Given the description of an element on the screen output the (x, y) to click on. 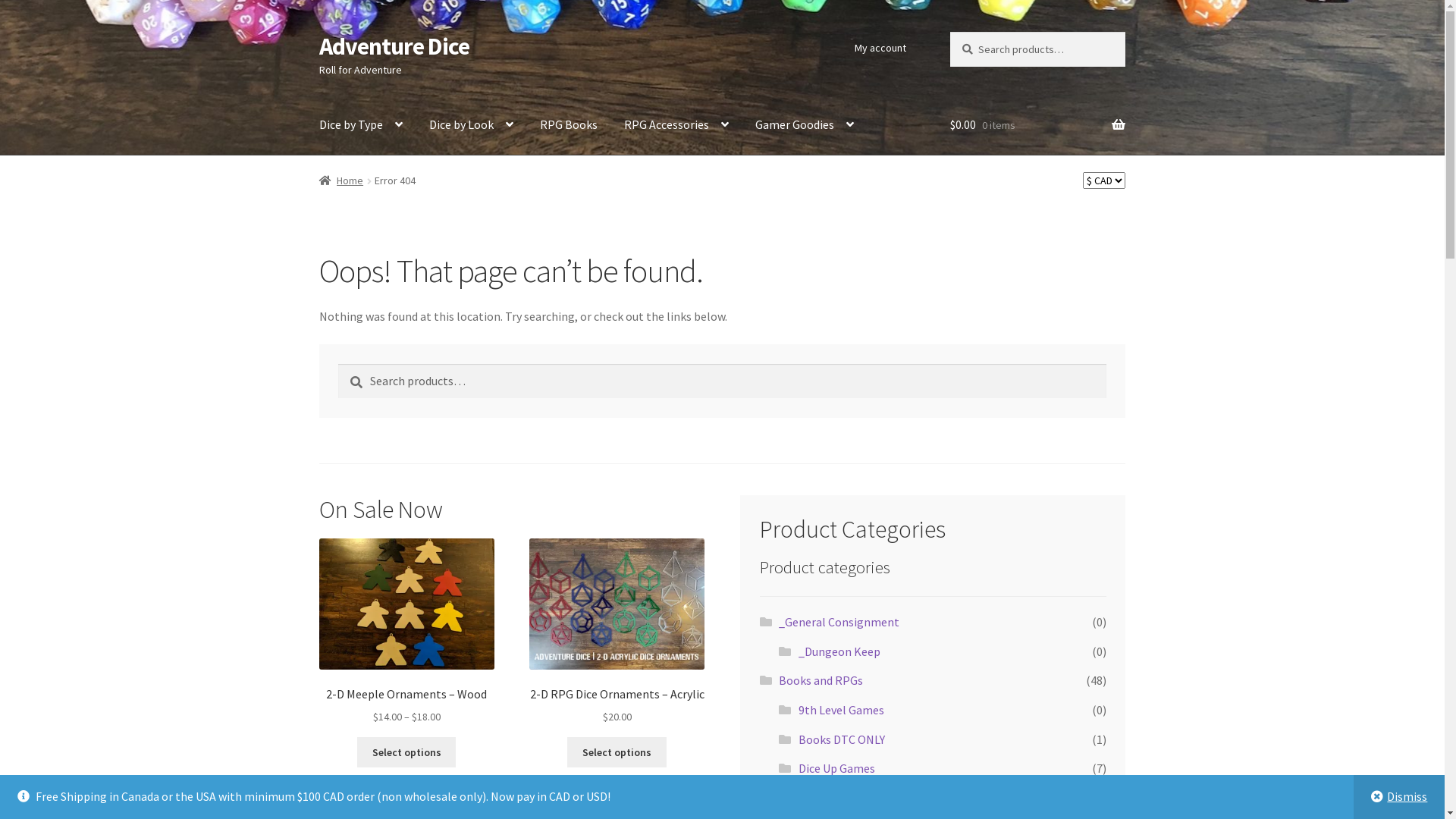
Dice by Look Element type: text (471, 124)
_General Consignment Element type: text (838, 621)
My account Element type: text (879, 47)
Dice Up Games Element type: text (836, 767)
$0.00 0 items Element type: text (1037, 124)
_Dungeon Keep Element type: text (839, 650)
Search Element type: text (949, 31)
Skip to navigation Element type: text (318, 31)
Search Element type: text (337, 363)
Home Element type: text (341, 180)
RPG Accessories Element type: text (675, 124)
Books DTC ONLY Element type: text (841, 738)
Select options Element type: text (616, 752)
RPG Books Element type: text (568, 124)
9th Level Games Element type: text (841, 709)
Dice by Type Element type: text (360, 124)
Select options Element type: text (406, 752)
Gamer Goodies Element type: text (804, 124)
Adventure Dice Element type: text (394, 46)
Books and RPGs Element type: text (820, 679)
Possum Creek Games Element type: text (854, 797)
